Given the description of an element on the screen output the (x, y) to click on. 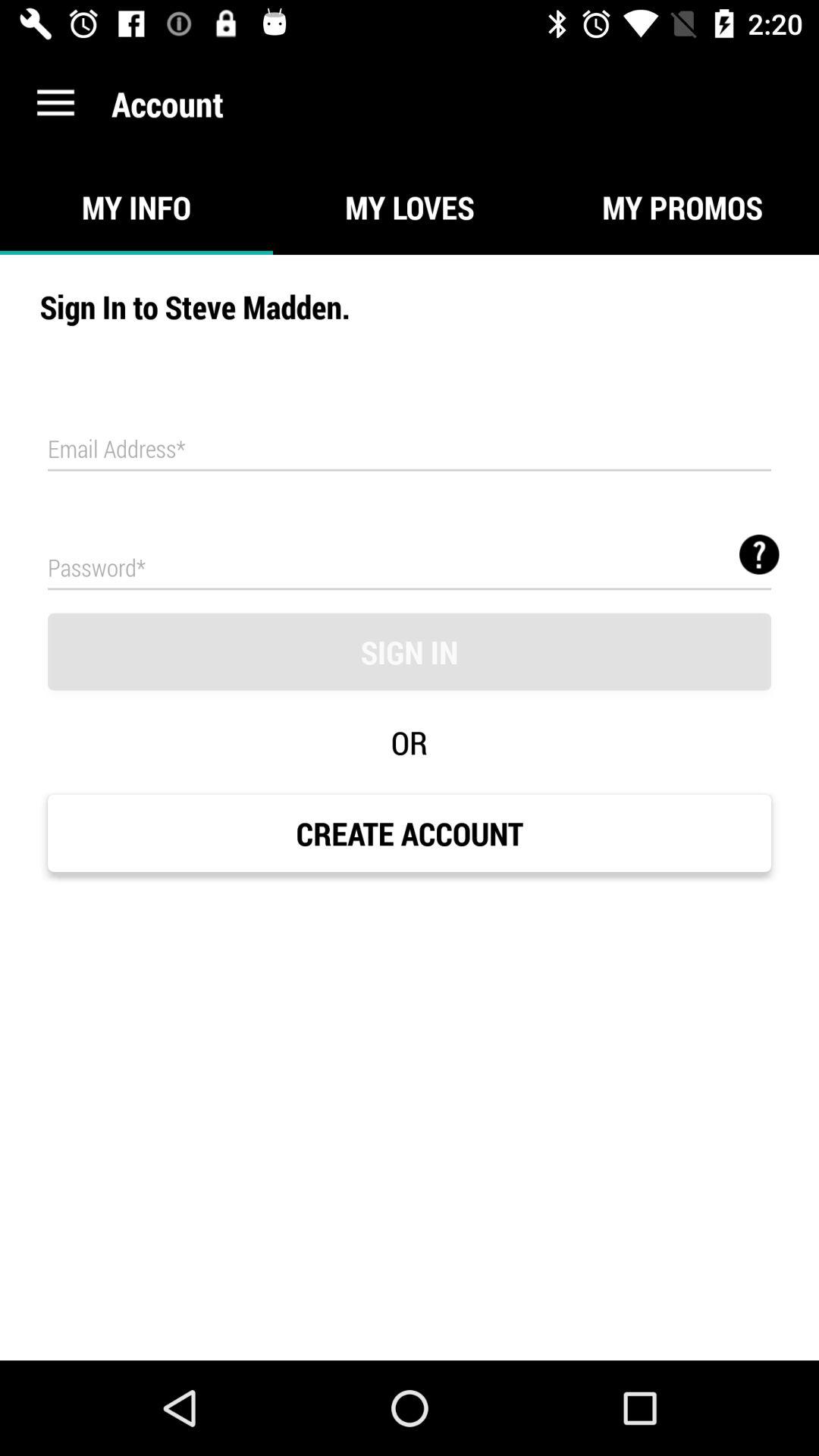
open item above sign in icon (759, 554)
